Given the description of an element on the screen output the (x, y) to click on. 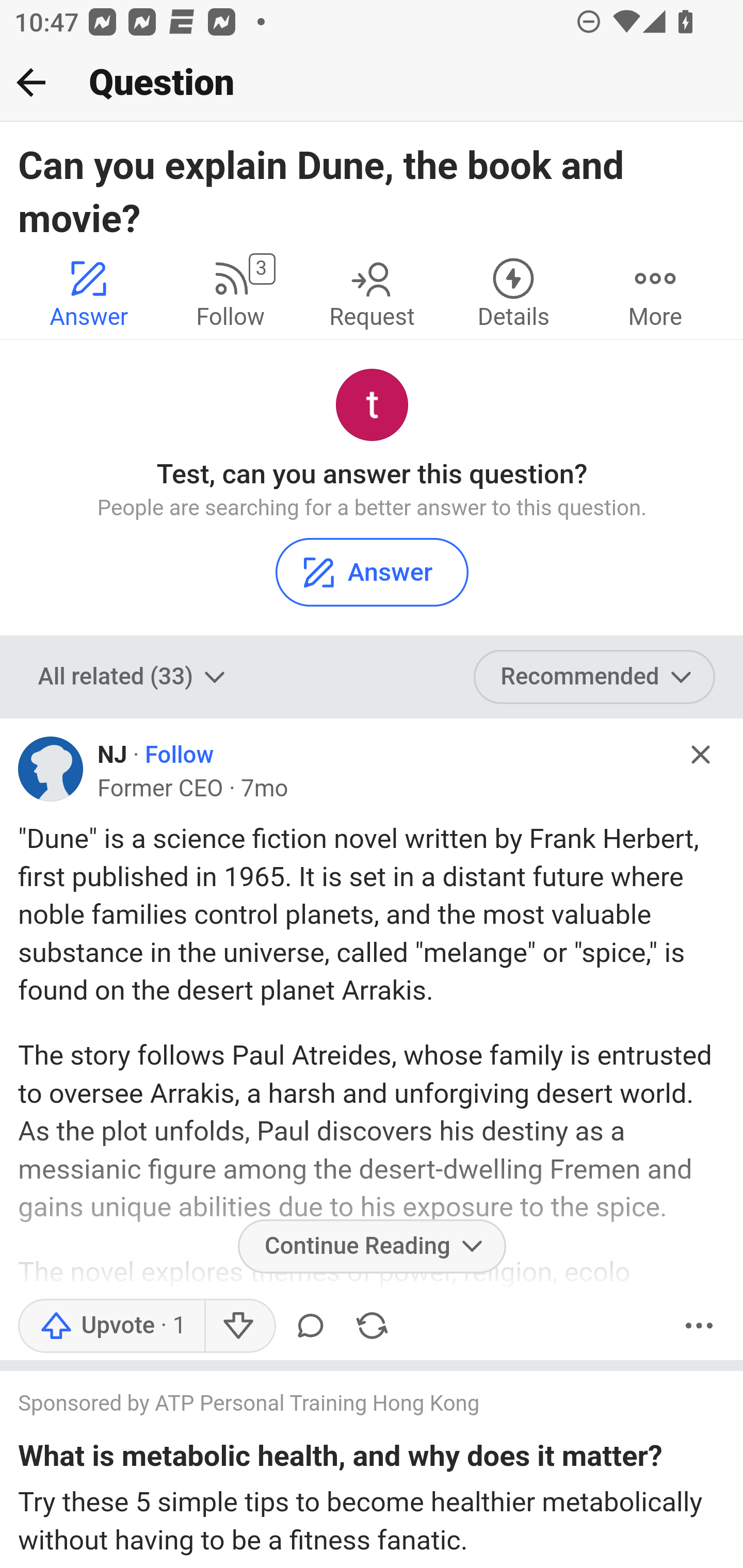
Back (30, 82)
Answer (88, 292)
3 Follow (230, 292)
Request (371, 292)
Details (513, 292)
More (655, 292)
Answer (371, 571)
All related (33) (133, 676)
Recommended (594, 676)
Hide (700, 754)
Profile photo for NJ (50, 768)
NJ (112, 754)
Follow (179, 754)
Continue Reading (371, 1244)
Upvote (111, 1324)
Downvote (238, 1324)
Comment (310, 1324)
Share (372, 1324)
More (699, 1324)
Sponsored by ATP Personal Training Hong Kong (352, 1405)
What is metabolic health, and why does it matter? (339, 1458)
